Given the description of an element on the screen output the (x, y) to click on. 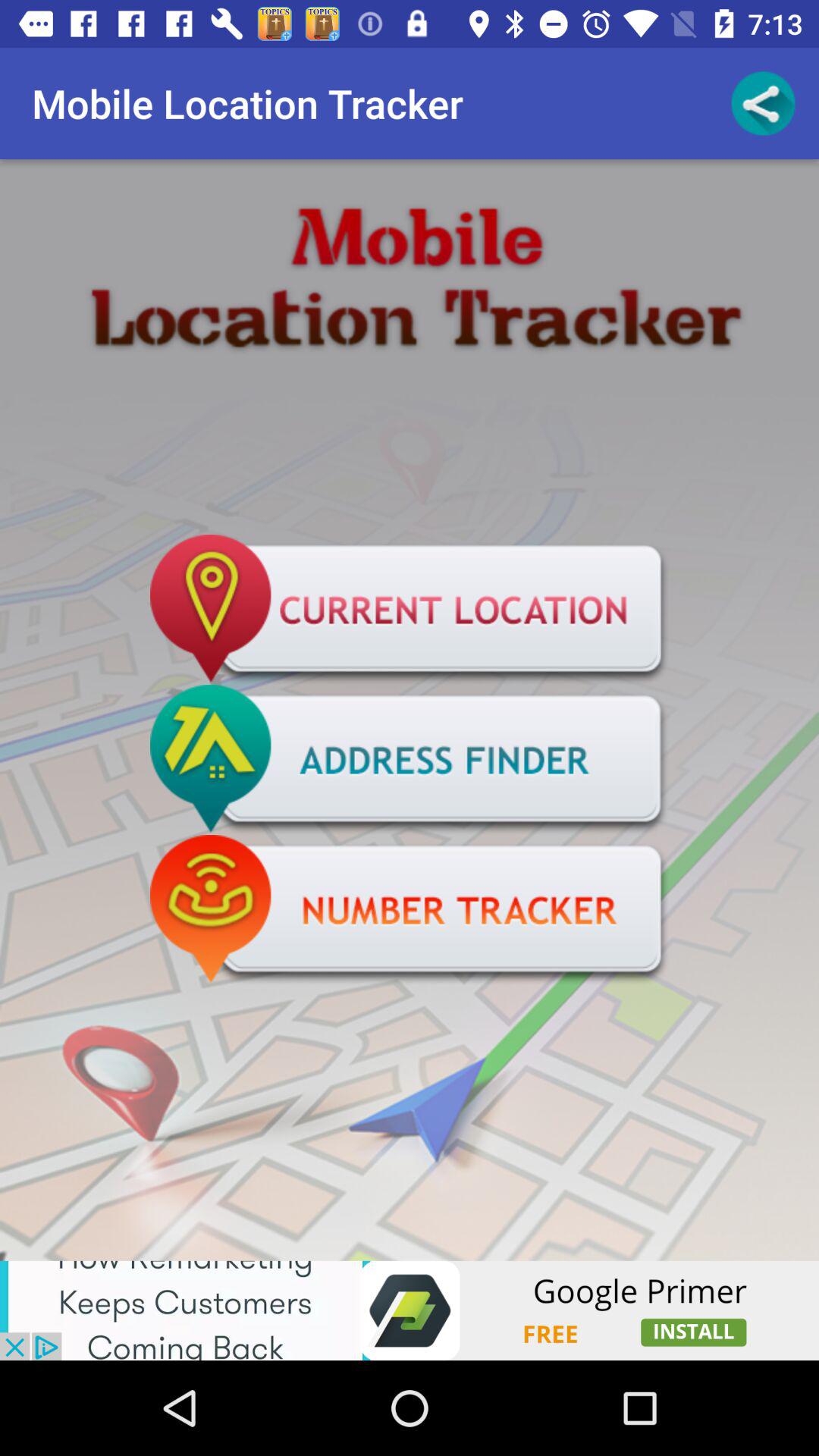
navigate to advertisement site (409, 1310)
